Given the description of an element on the screen output the (x, y) to click on. 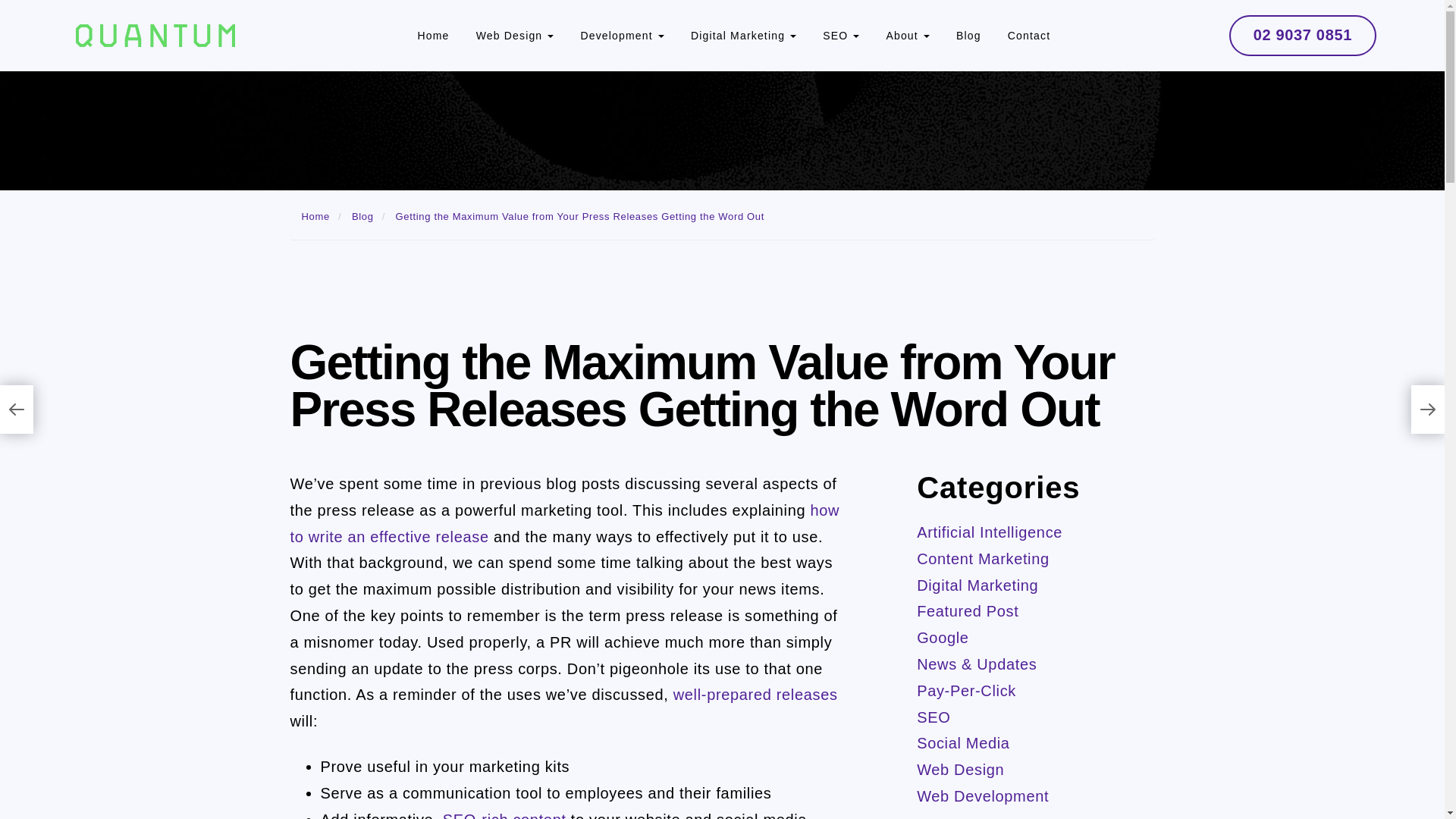
Home (315, 215)
Home (433, 35)
About (907, 35)
02 9037 0851 (1301, 35)
SEO (840, 35)
how to write an effective release (564, 523)
Blog (968, 35)
SEO-rich content (504, 815)
Development (622, 35)
Contact (1028, 35)
